Given the description of an element on the screen output the (x, y) to click on. 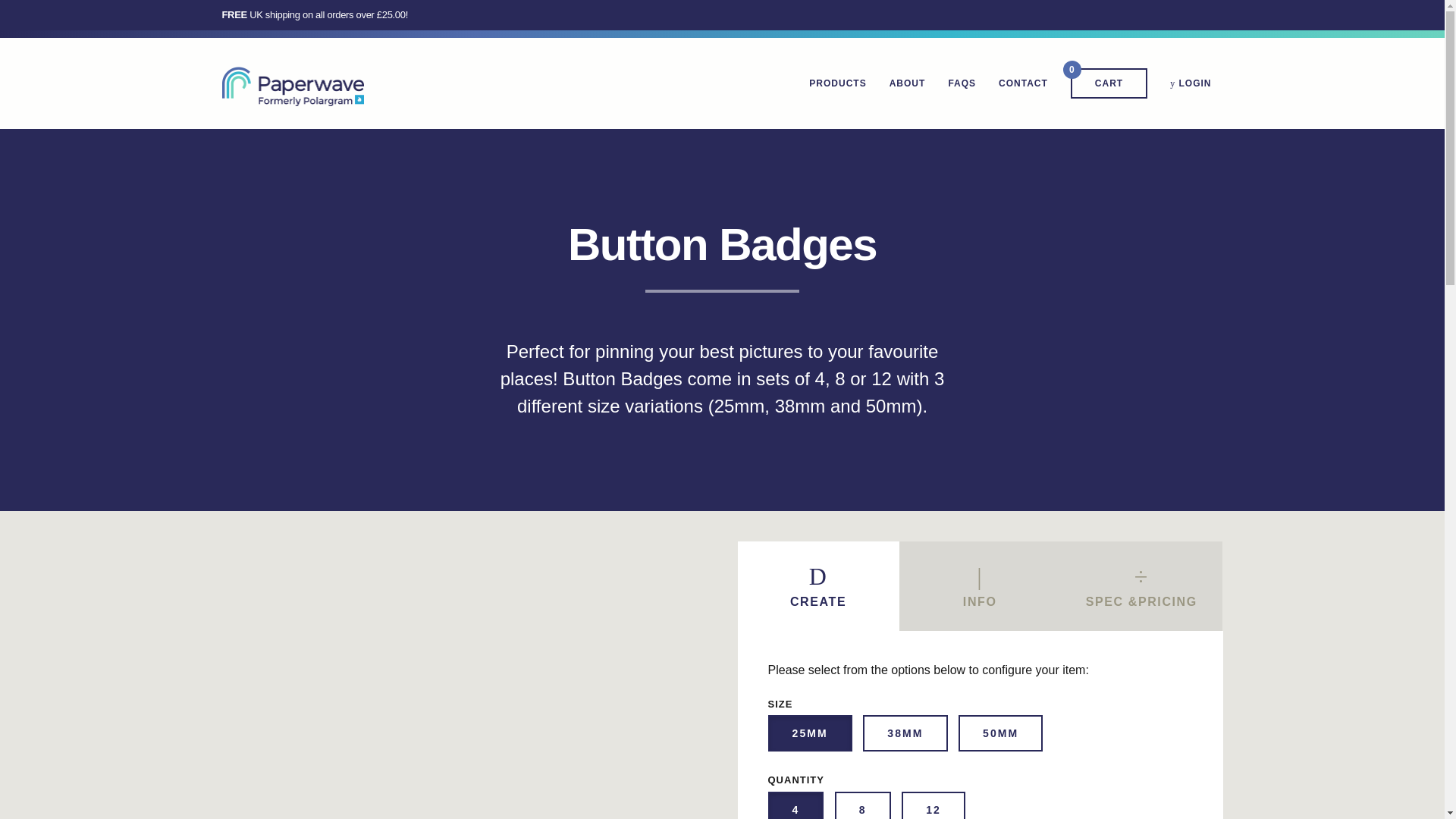
CREATE (817, 585)
LOGIN (1190, 83)
50mm (987, 736)
INFO (1108, 82)
FAQS (980, 585)
25mm (961, 83)
12 (797, 736)
PRODUCTS (931, 811)
ABOUT (837, 83)
8 (907, 83)
CONTACT (864, 811)
38mm (1023, 83)
4 (891, 736)
